Given the description of an element on the screen output the (x, y) to click on. 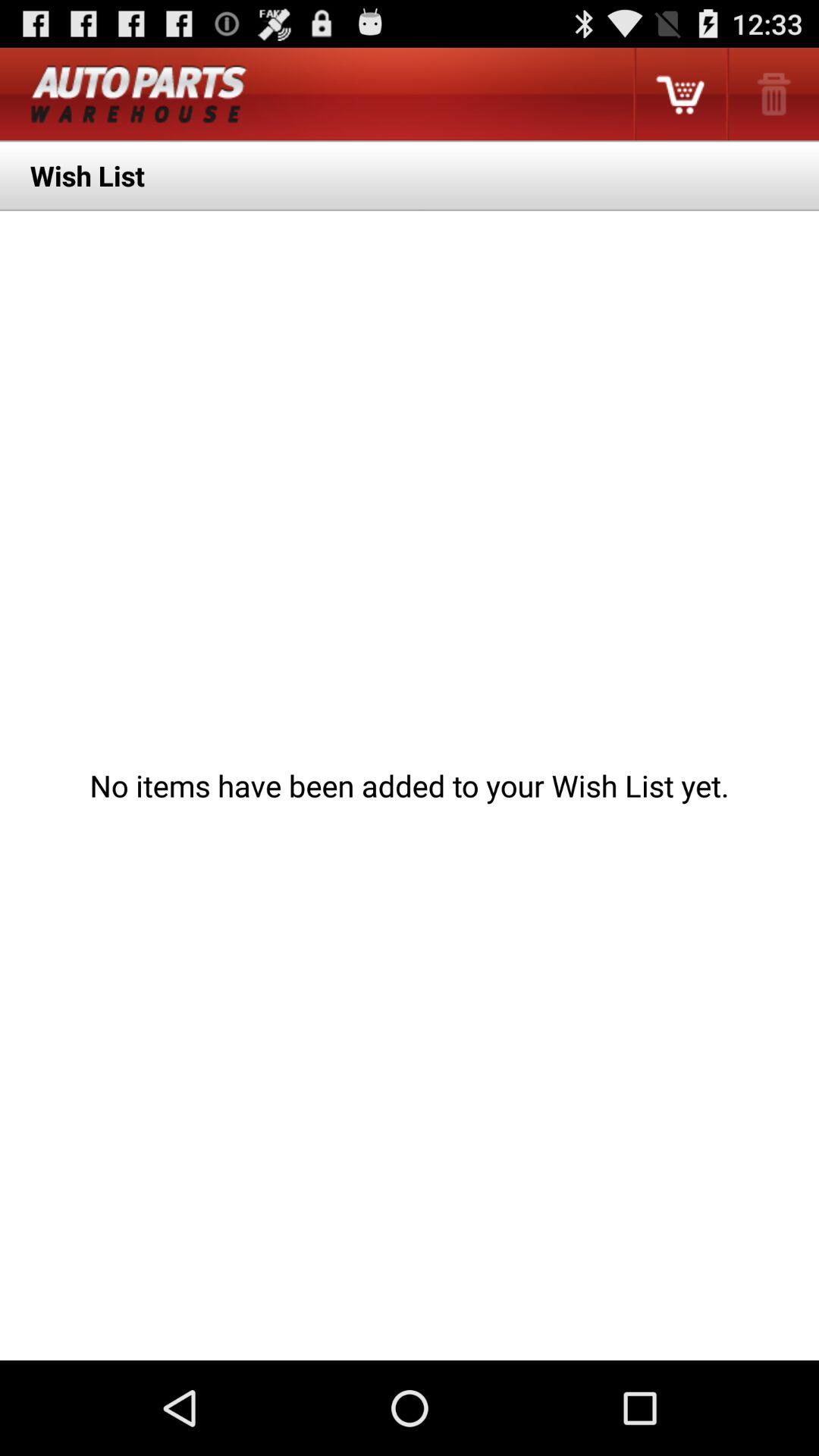
delete items (772, 93)
